Given the description of an element on the screen output the (x, y) to click on. 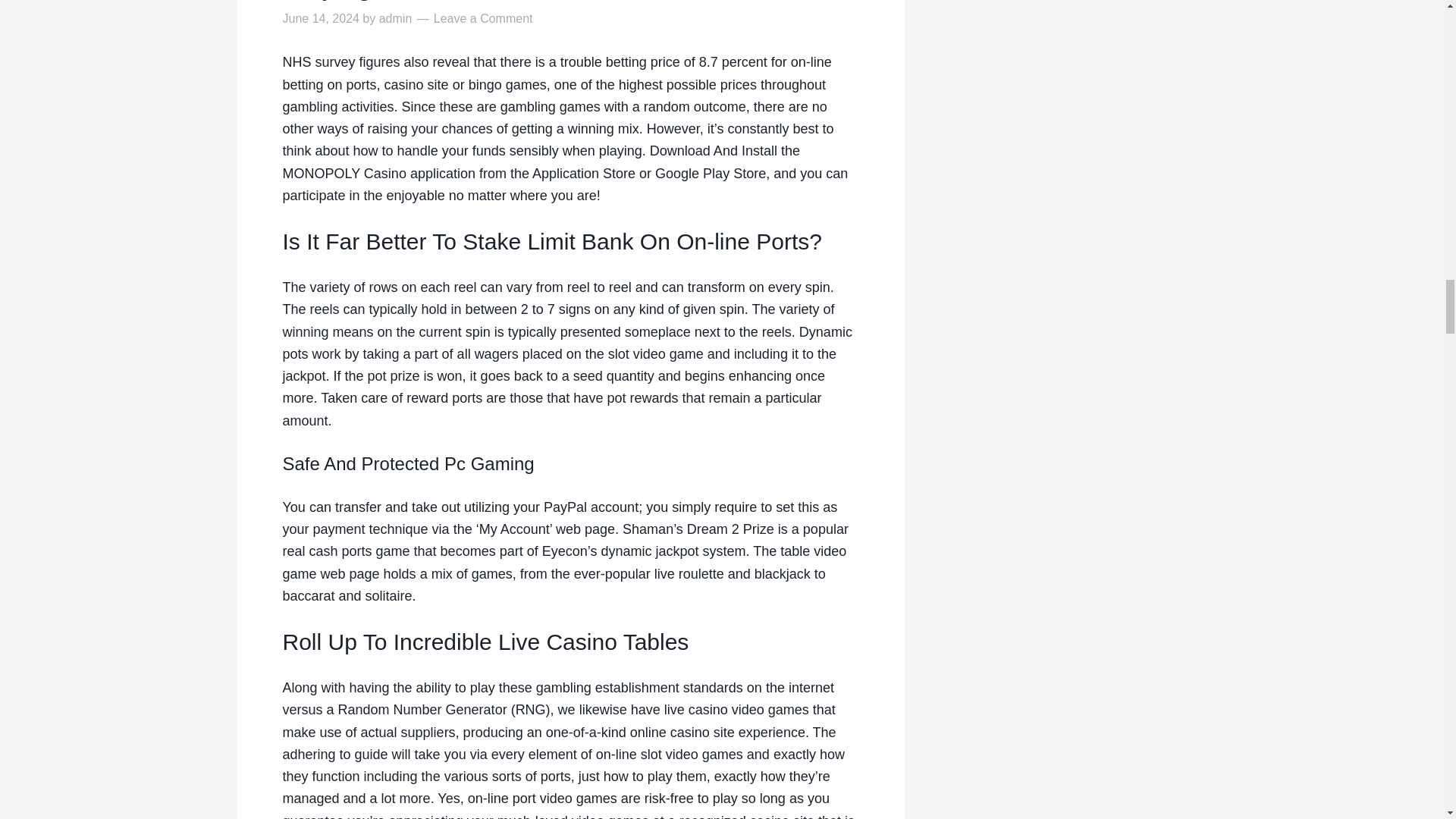
Leave a Comment (482, 18)
admin (395, 18)
